Given the description of an element on the screen output the (x, y) to click on. 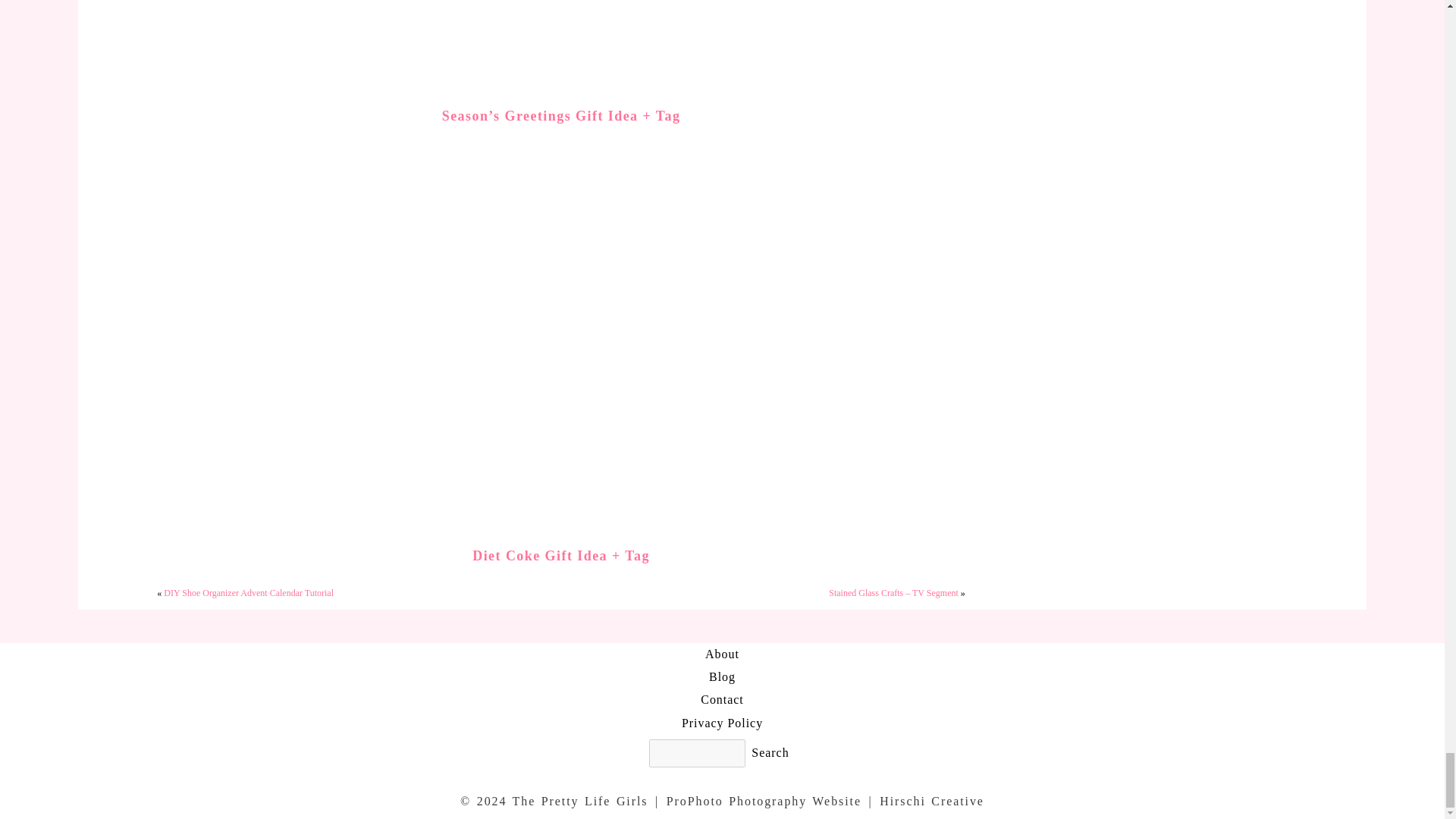
ProPhoto Photography Blog (763, 800)
Search (770, 753)
Search (770, 753)
